Given the description of an element on the screen output the (x, y) to click on. 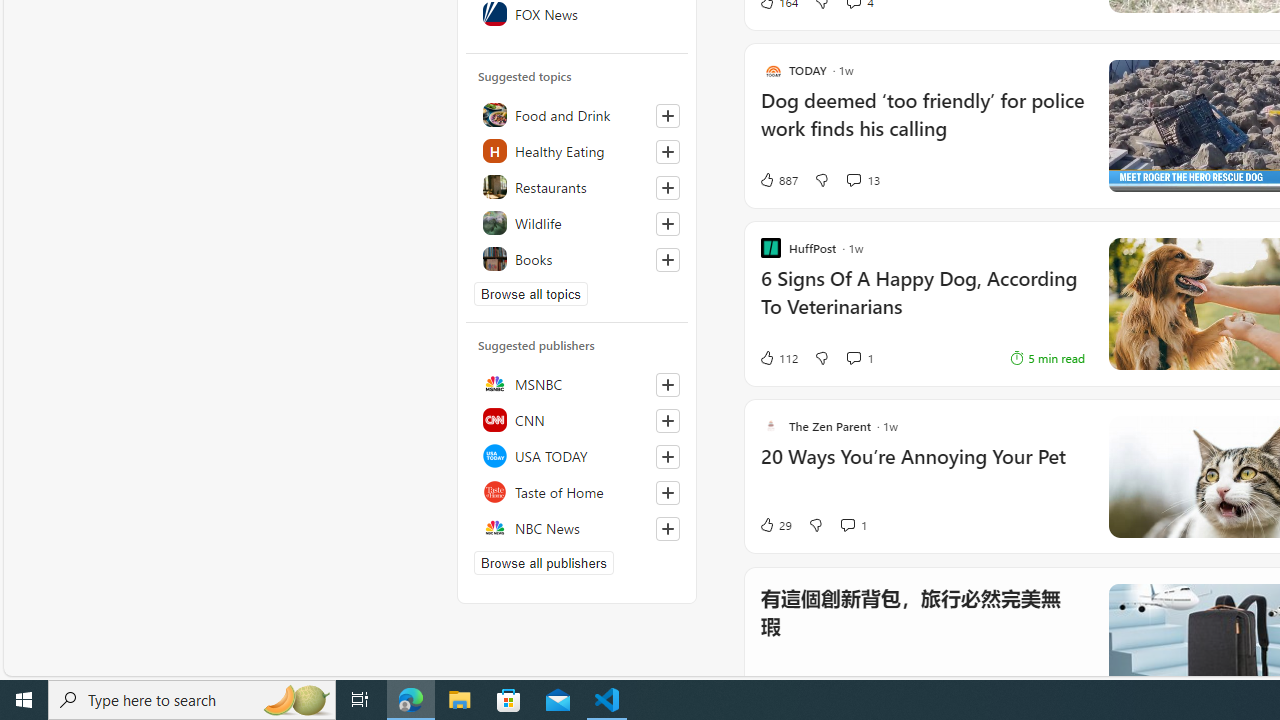
View comments 13 Comment (852, 180)
View comments 1 Comment (852, 524)
Follow this source (667, 528)
Browse all topics (530, 294)
Wildlife (577, 222)
USA TODAY (577, 456)
Follow this topic (667, 259)
Browse all publishers (543, 562)
887 Like (778, 179)
Restaurants (577, 186)
NBC News (577, 528)
Follow this topic (667, 259)
Follow this source (667, 528)
